Given the description of an element on the screen output the (x, y) to click on. 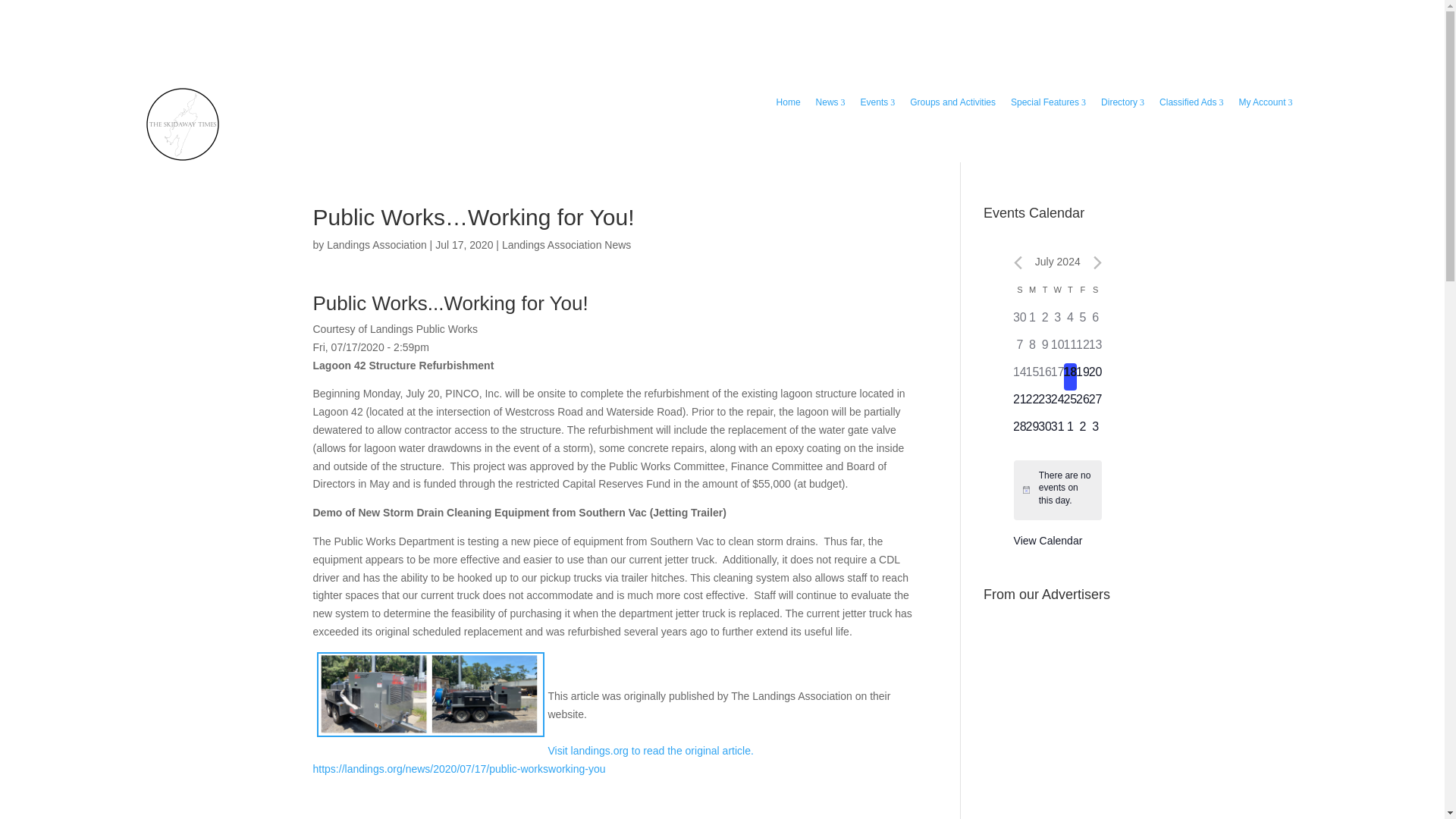
Directory (1122, 102)
Special Features (1048, 102)
Classified Ads (1190, 102)
News (830, 102)
Landings Association News (566, 244)
View more events. (1048, 540)
Landings Association (376, 244)
Groups and Activities (952, 102)
Posts by Landings Association (376, 244)
Advertisement (1097, 703)
Home (788, 102)
Events (877, 102)
My Account (1265, 102)
